Given the description of an element on the screen output the (x, y) to click on. 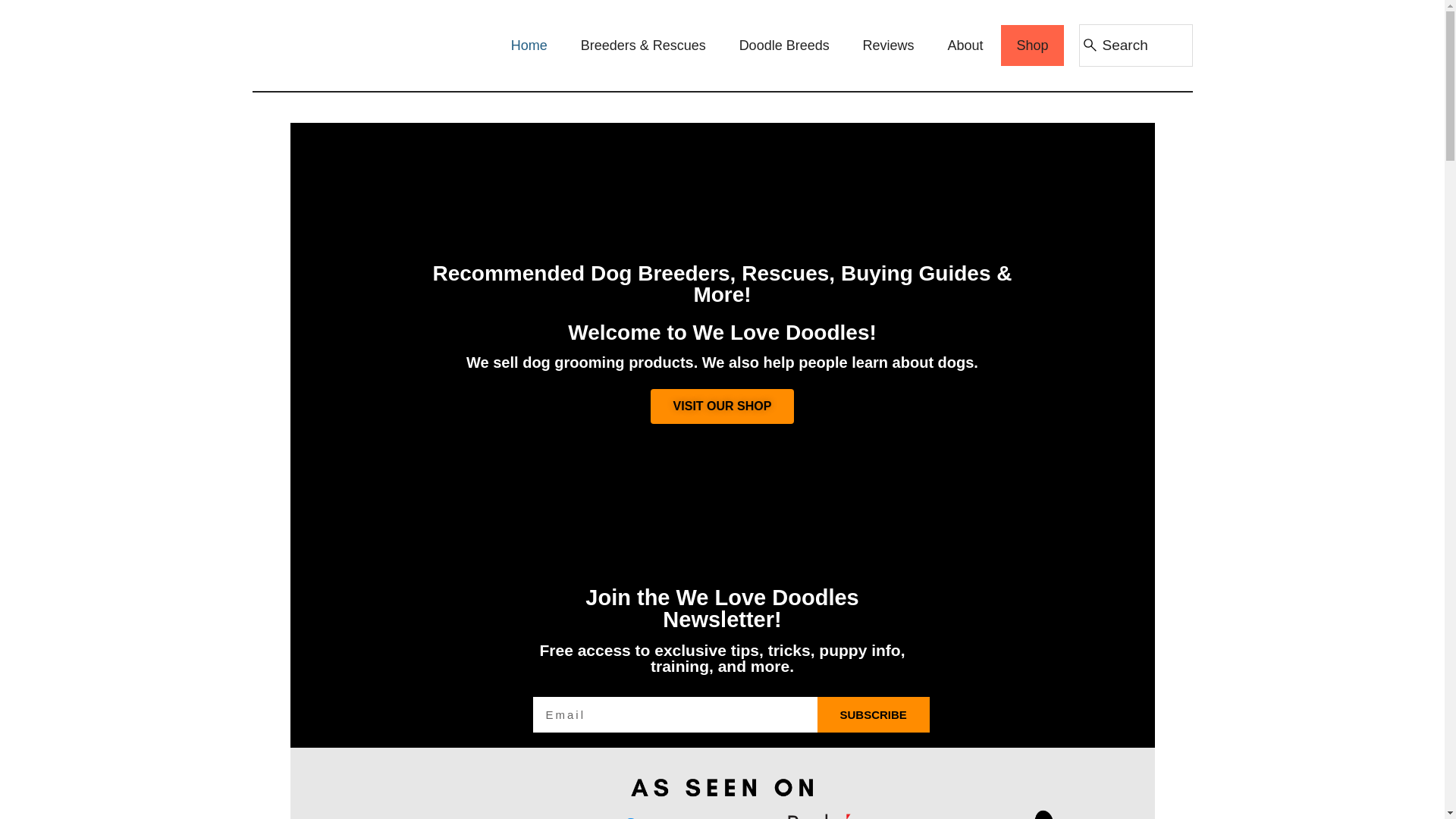
Shop (1031, 45)
VISIT OUR SHOP (722, 406)
Reviews (888, 45)
About (965, 45)
Home (529, 45)
SUBSCRIBE (873, 714)
Doodle Breeds (783, 45)
